Given the description of an element on the screen output the (x, y) to click on. 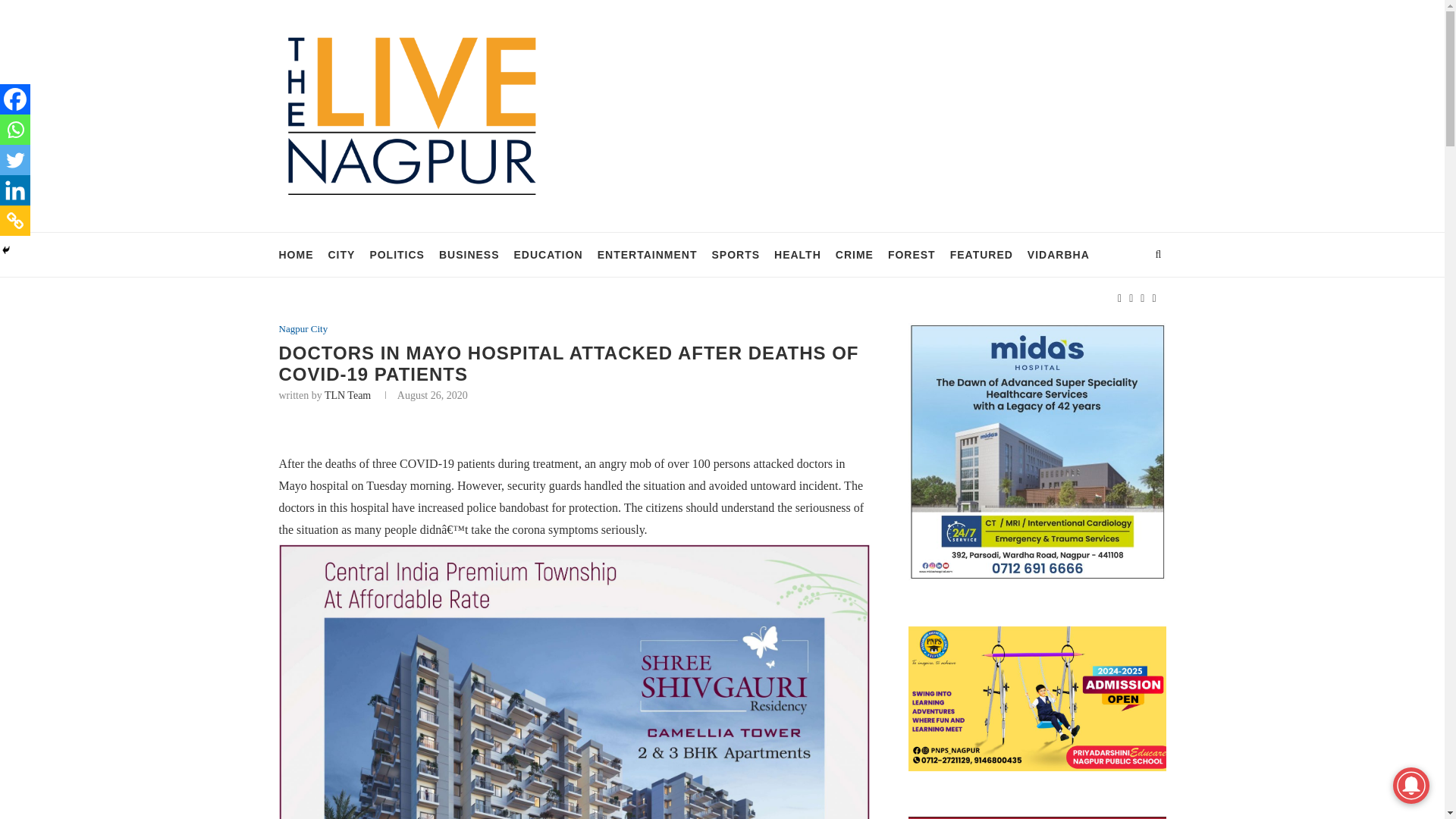
Hide (5, 250)
Twitter (15, 159)
Copy Link (15, 220)
Facebook (15, 99)
Nagpur City (304, 328)
POLITICS (397, 254)
HEALTH (797, 254)
SPORTS (735, 254)
ENTERTAINMENT (646, 254)
Whatsapp (15, 129)
FOREST (912, 254)
VIDARBHA (1058, 254)
Linkedin (15, 190)
BUSINESS (469, 254)
EDUCATION (548, 254)
